Given the description of an element on the screen output the (x, y) to click on. 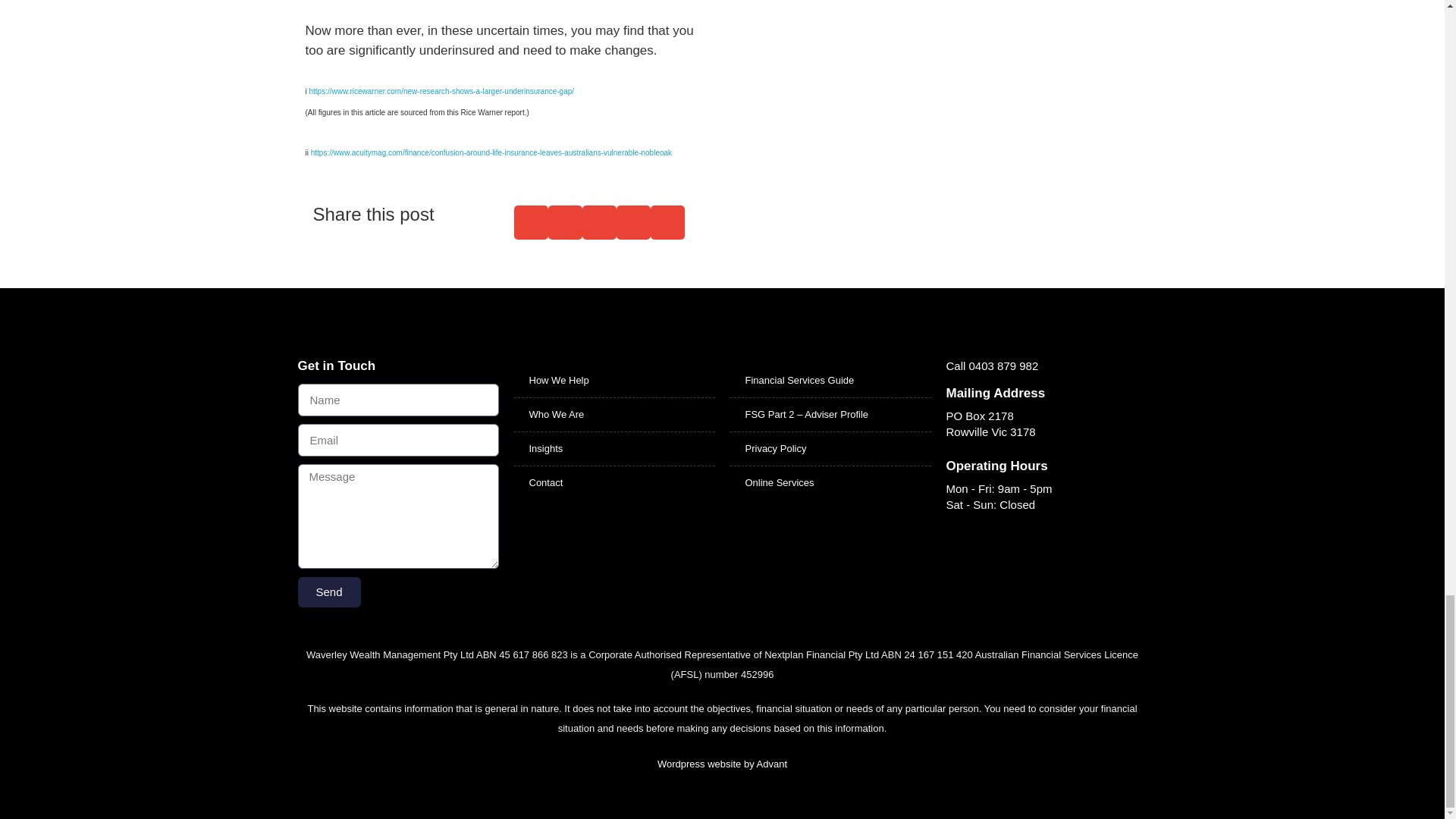
Send (328, 592)
How We Help (613, 380)
Who We Are (613, 414)
